Given the description of an element on the screen output the (x, y) to click on. 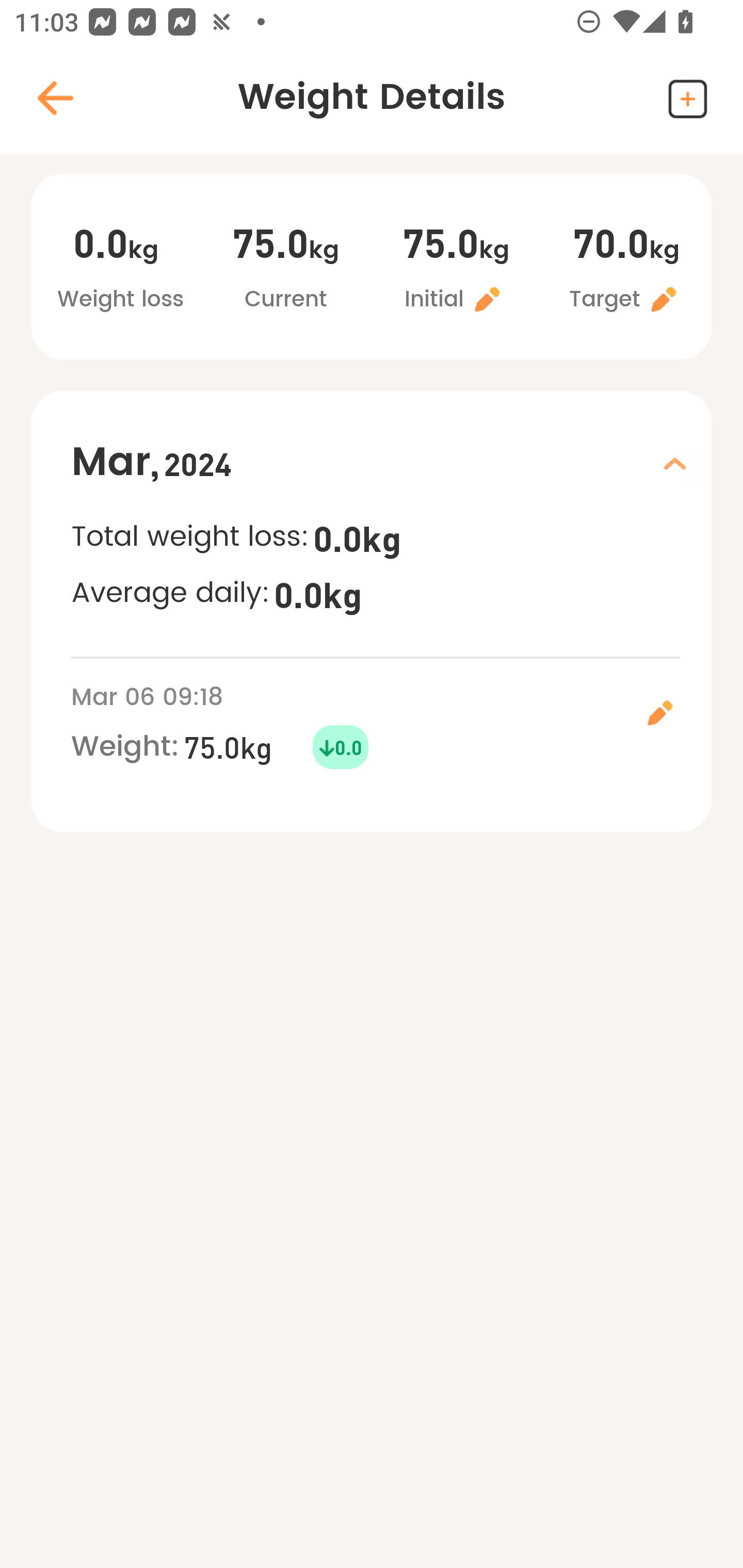
75.0kg Initial (455, 268)
70.0kg Target (625, 268)
Mar 06 09:18 Weight: 75.0kg 0.0 (391, 723)
